Given the description of an element on the screen output the (x, y) to click on. 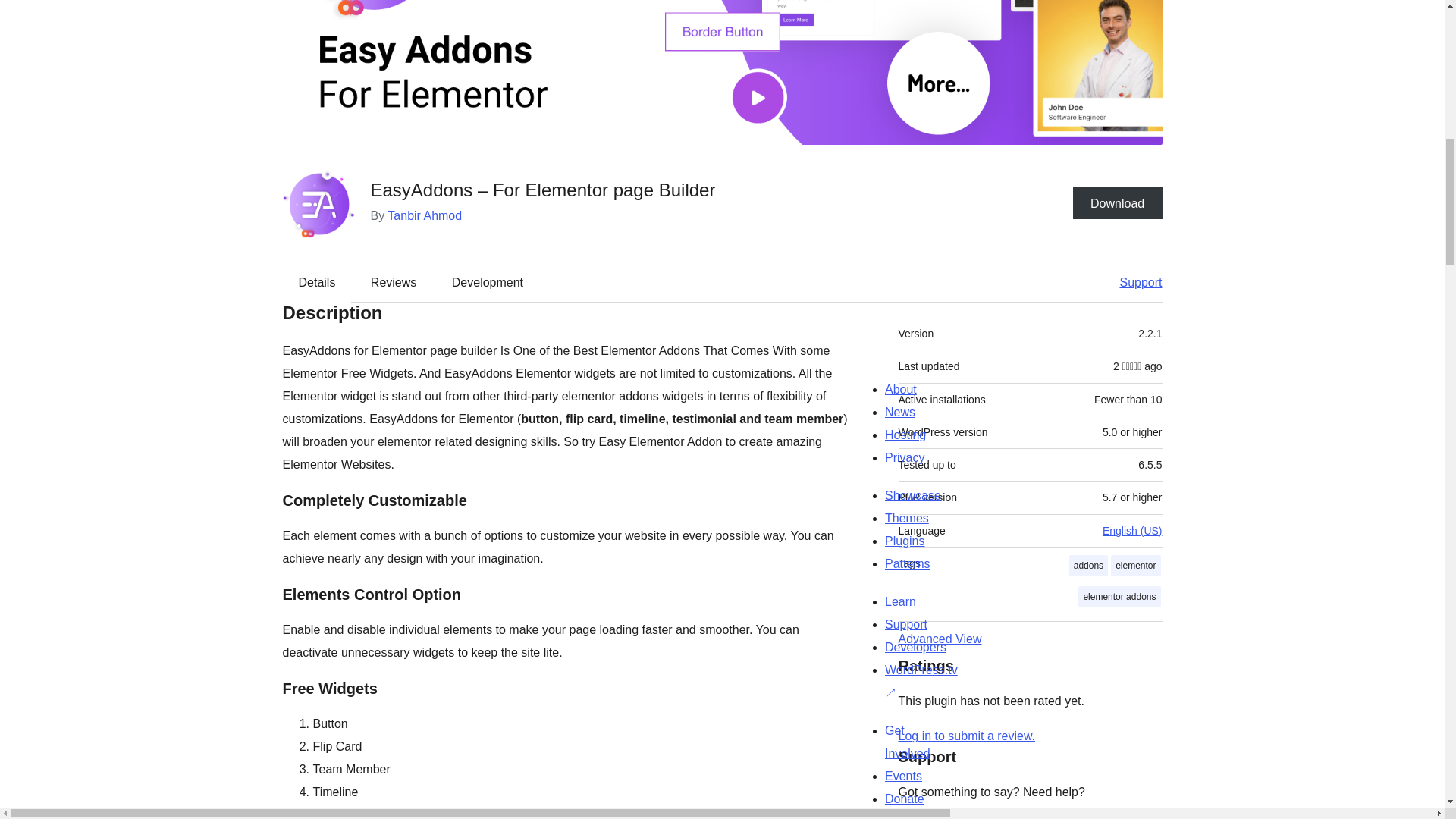
Reviews (392, 282)
Details (316, 282)
Support (1132, 282)
Development (487, 282)
Download (1117, 203)
Log in to WordPress.org (966, 735)
Tanbir Ahmod (424, 215)
